Given the description of an element on the screen output the (x, y) to click on. 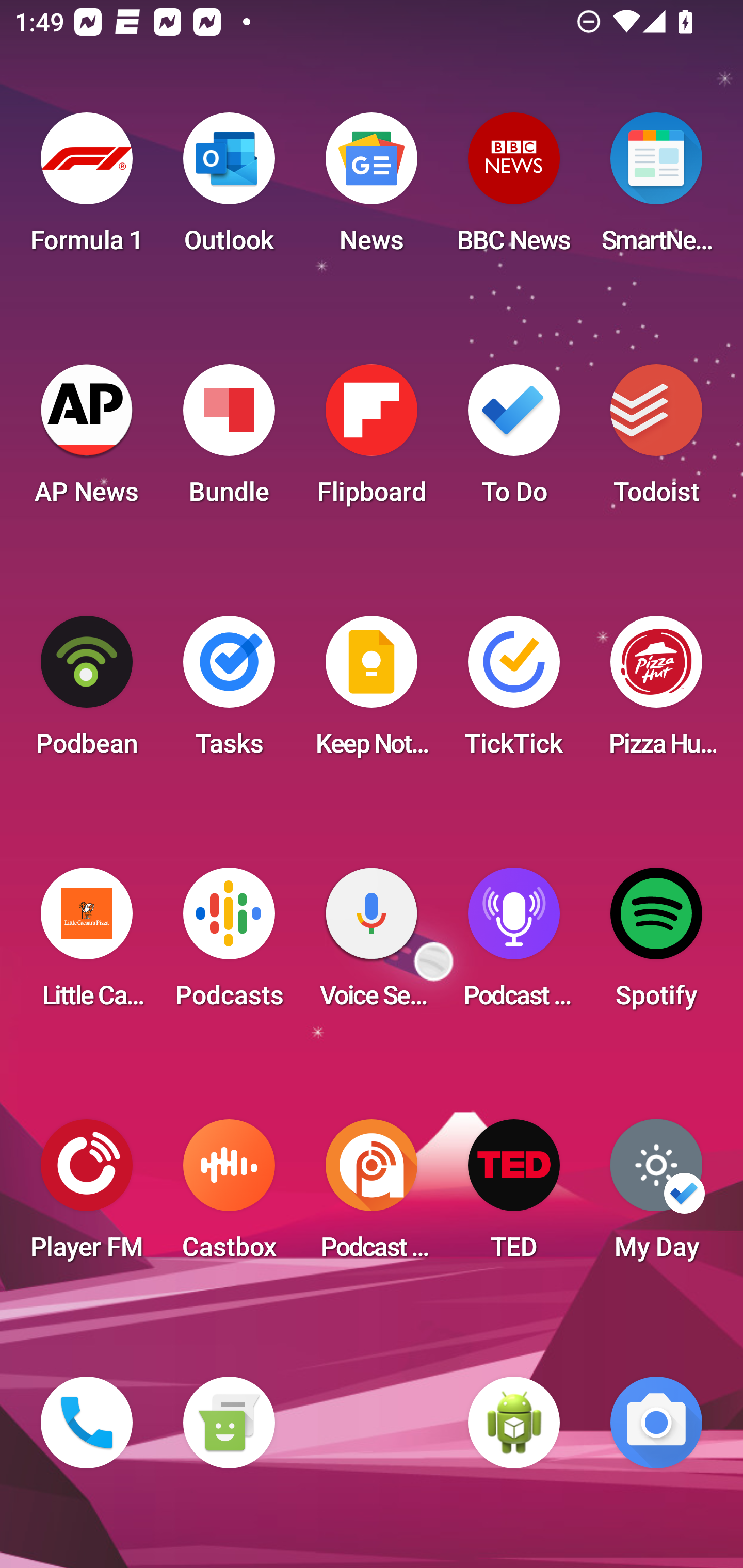
Formula 1 (86, 188)
Outlook (228, 188)
News (371, 188)
BBC News (513, 188)
SmartNews (656, 188)
AP News (86, 440)
Bundle (228, 440)
Flipboard (371, 440)
To Do (513, 440)
Todoist (656, 440)
Podbean (86, 692)
Tasks (228, 692)
Keep Notes (371, 692)
TickTick (513, 692)
Pizza Hut HK & Macau (656, 692)
Little Caesars Pizza (86, 943)
Podcasts (228, 943)
Voice Search (371, 943)
Podcast Player (513, 943)
Spotify (656, 943)
Player FM (86, 1195)
Castbox (228, 1195)
Podcast Addict (371, 1195)
TED (513, 1195)
My Day (656, 1195)
Phone (86, 1422)
Messaging (228, 1422)
WebView Browser Tester (513, 1422)
Camera (656, 1422)
